Given the description of an element on the screen output the (x, y) to click on. 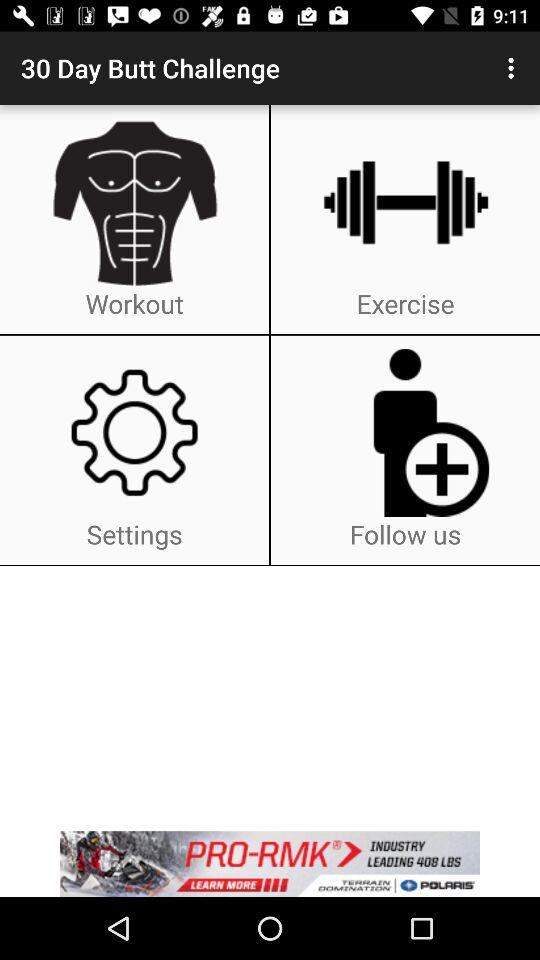
advertisement (270, 864)
